Given the description of an element on the screen output the (x, y) to click on. 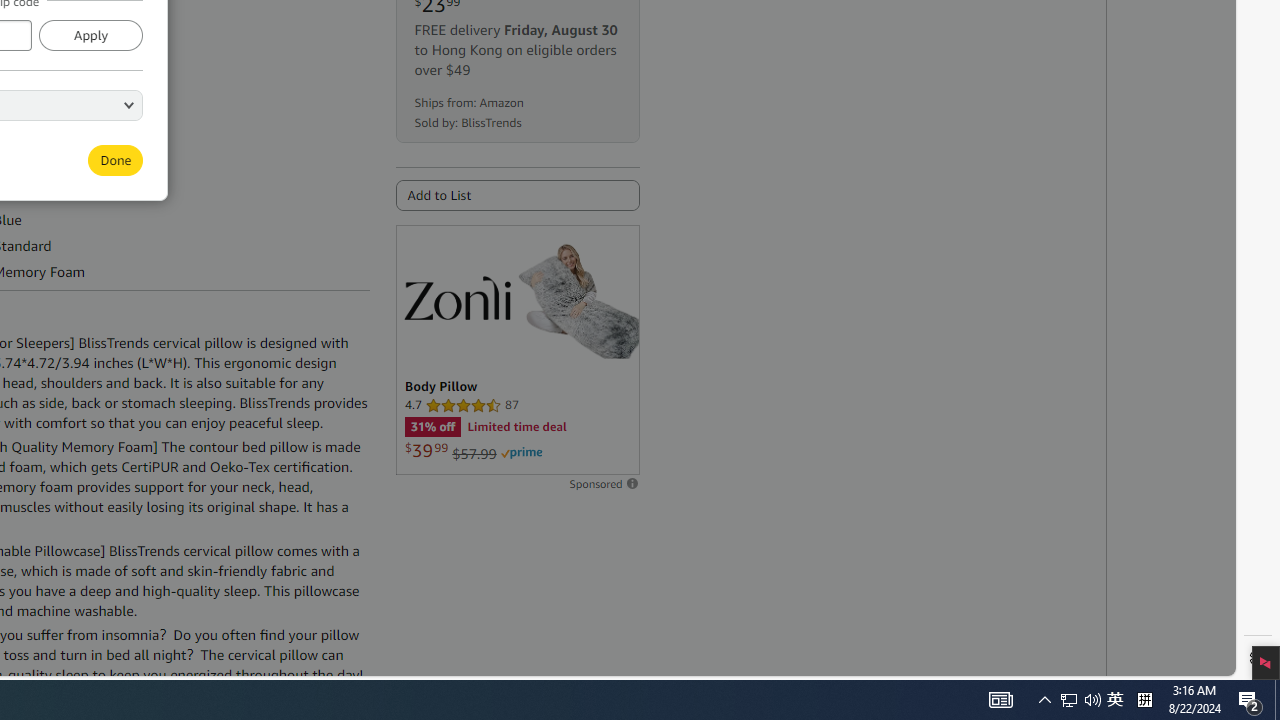
King (50, 123)
Logo (456, 297)
Done (115, 159)
Add to List (516, 195)
Prime (521, 453)
Sponsored ad (516, 349)
Apply (90, 34)
